Given the description of an element on the screen output the (x, y) to click on. 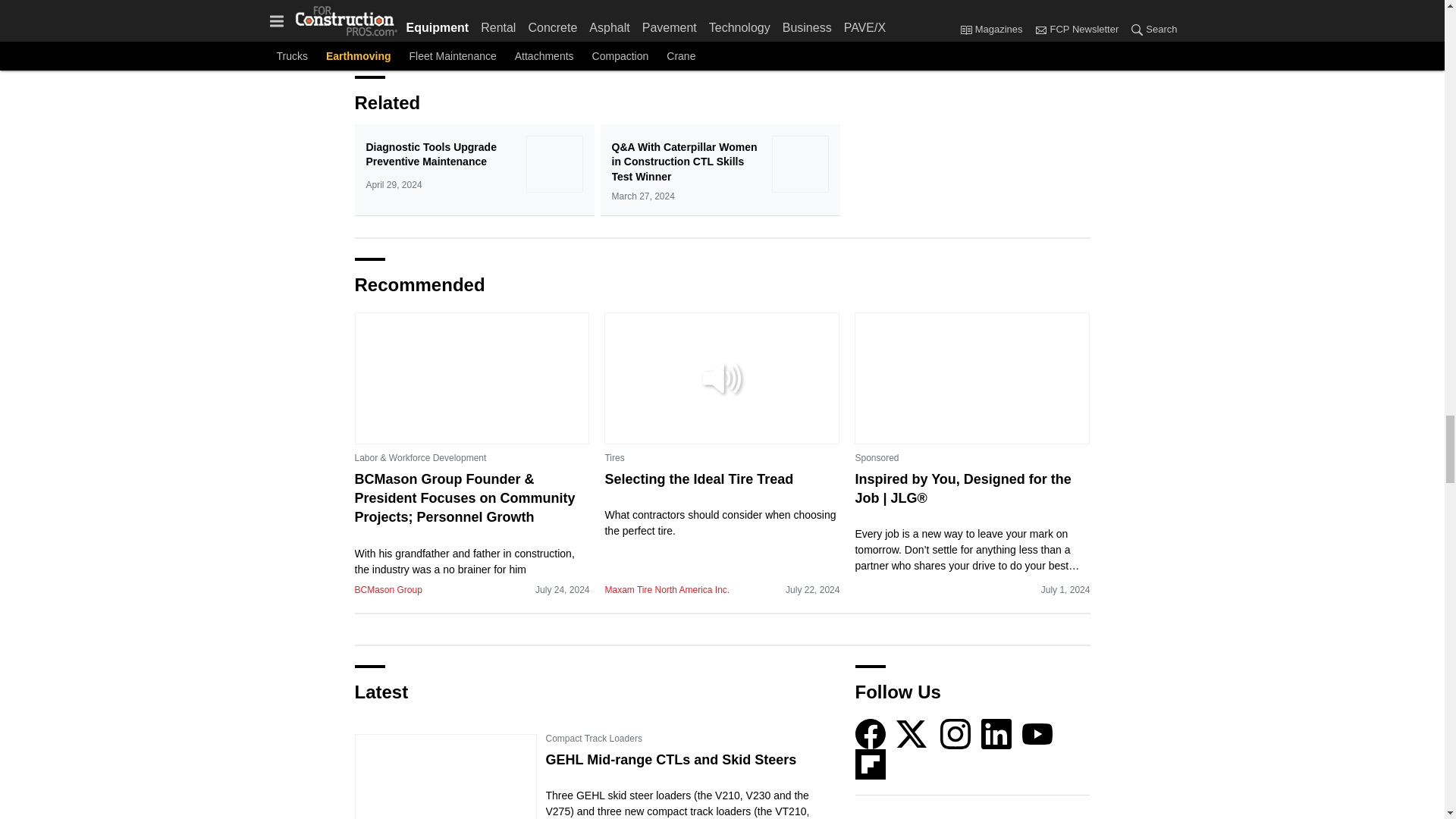
LinkedIn icon (996, 734)
Share To linkedin (443, 45)
YouTube icon (1037, 734)
Share To facebook (406, 45)
Share To email (370, 45)
Instagram icon (955, 734)
Twitter X icon (911, 734)
Facebook icon (870, 734)
Share To twitter (479, 45)
Flipboard icon (870, 764)
